Given the description of an element on the screen output the (x, y) to click on. 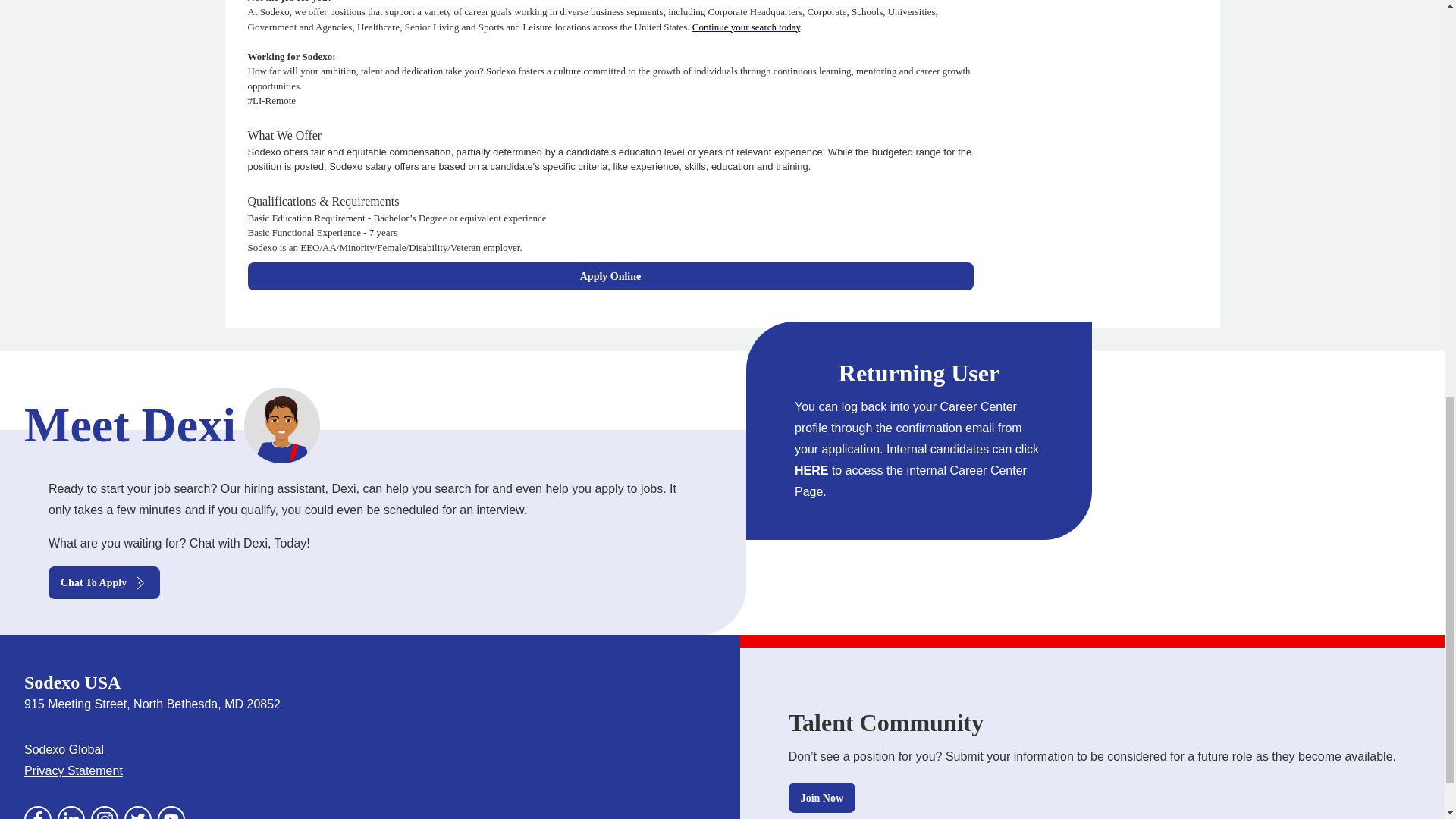
Apply Online (609, 276)
Continue your search today (746, 26)
Sodexo Global (63, 748)
Privacy Statement (73, 770)
Sodexo USA (72, 682)
HERE (811, 470)
Join Now (822, 797)
